Given the description of an element on the screen output the (x, y) to click on. 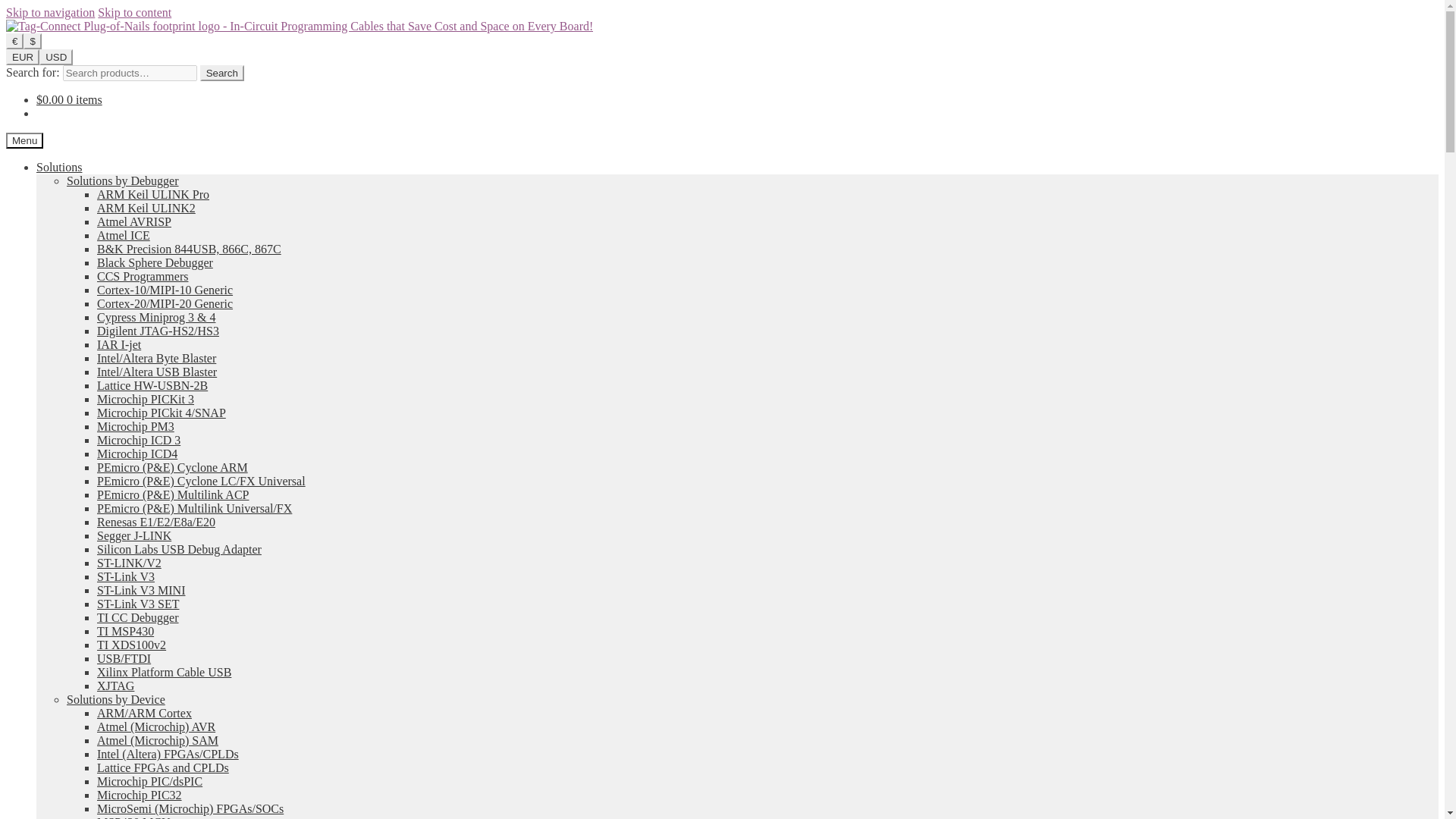
IAR I-jet (119, 344)
Atmel AVRISP (134, 221)
Silicon Labs USB Debug Adapter (179, 549)
Microchip PM3 (135, 426)
Search (222, 73)
ARM Keil ULINK2 (146, 207)
Atmel ICE (123, 235)
Skip to content (134, 11)
View your shopping cart (68, 99)
Menu (24, 140)
Microchip ICD4 (137, 453)
CCS Programmers (142, 276)
Microchip ICD 3 (138, 440)
Solutions (58, 166)
Microchip PICKit 3 (145, 399)
